Given the description of an element on the screen output the (x, y) to click on. 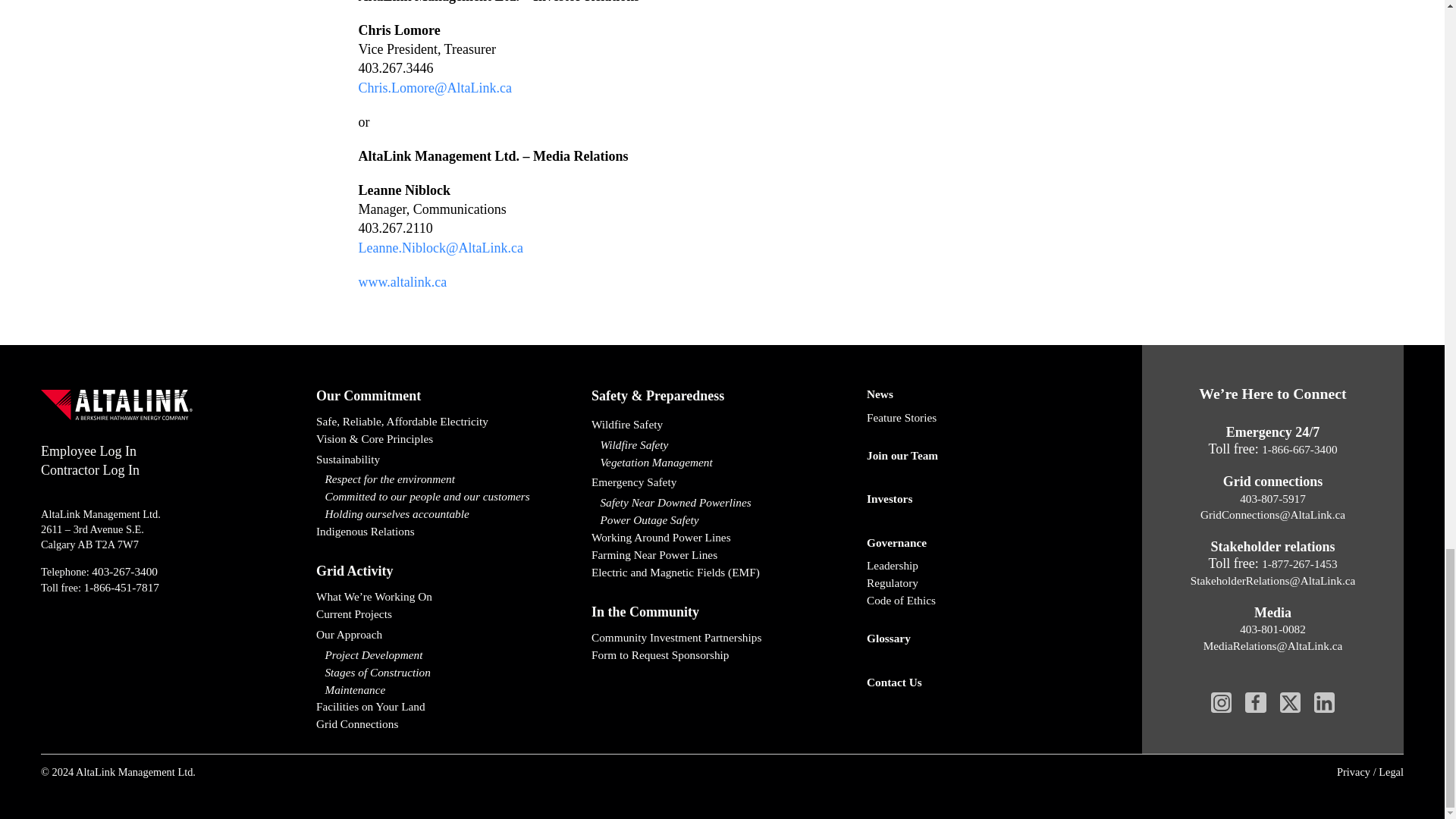
Wildfire Safety (722, 445)
Respect for the environment (446, 479)
Emergency Safety (722, 482)
Holding ourselves accountable (446, 514)
Stages of Construction (446, 672)
Current Projects (446, 614)
www.altalink.ca (402, 281)
Vegetation Management (722, 462)
Project Development (446, 655)
Facilities on Your Land (446, 706)
Indigenous Relations (446, 531)
Wildfire Safety (722, 424)
Grid Connections (446, 724)
Contractor Log In (89, 469)
Maintenance (446, 690)
